Given the description of an element on the screen output the (x, y) to click on. 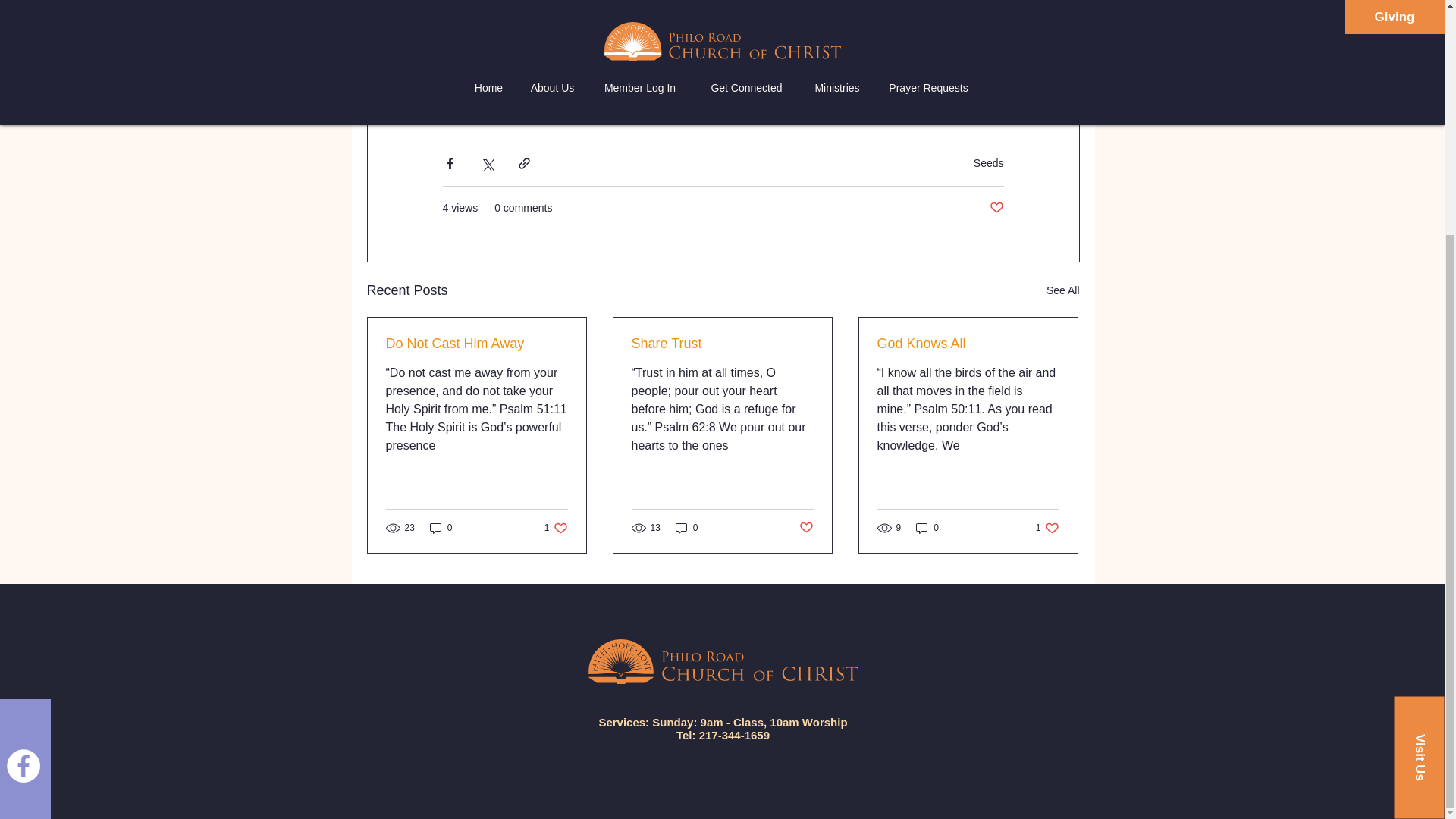
See All (1063, 291)
Post not marked as liked (555, 527)
Seeds (995, 207)
0 (989, 162)
0 (927, 527)
0 (687, 527)
Share Trust (441, 527)
God Knows All (721, 343)
Post not marked as liked (1047, 527)
Do Not Cast Him Away (967, 343)
